Given the description of an element on the screen output the (x, y) to click on. 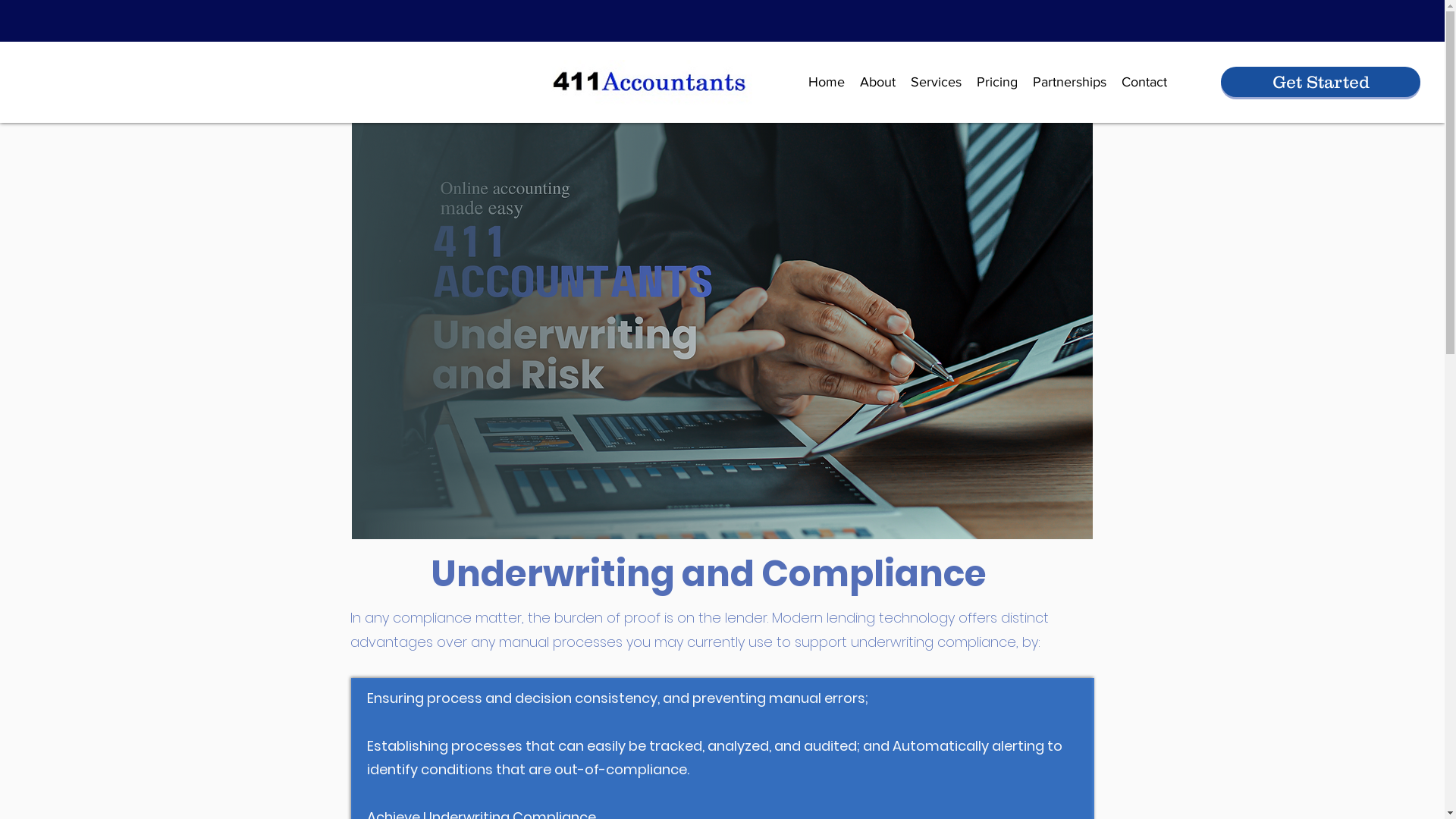
Home Element type: text (826, 82)
Contact Element type: text (1143, 82)
Get Started Element type: text (1320, 81)
Partnerships Element type: text (1069, 82)
About Element type: text (877, 82)
Pricing Element type: text (997, 82)
